Given the description of an element on the screen output the (x, y) to click on. 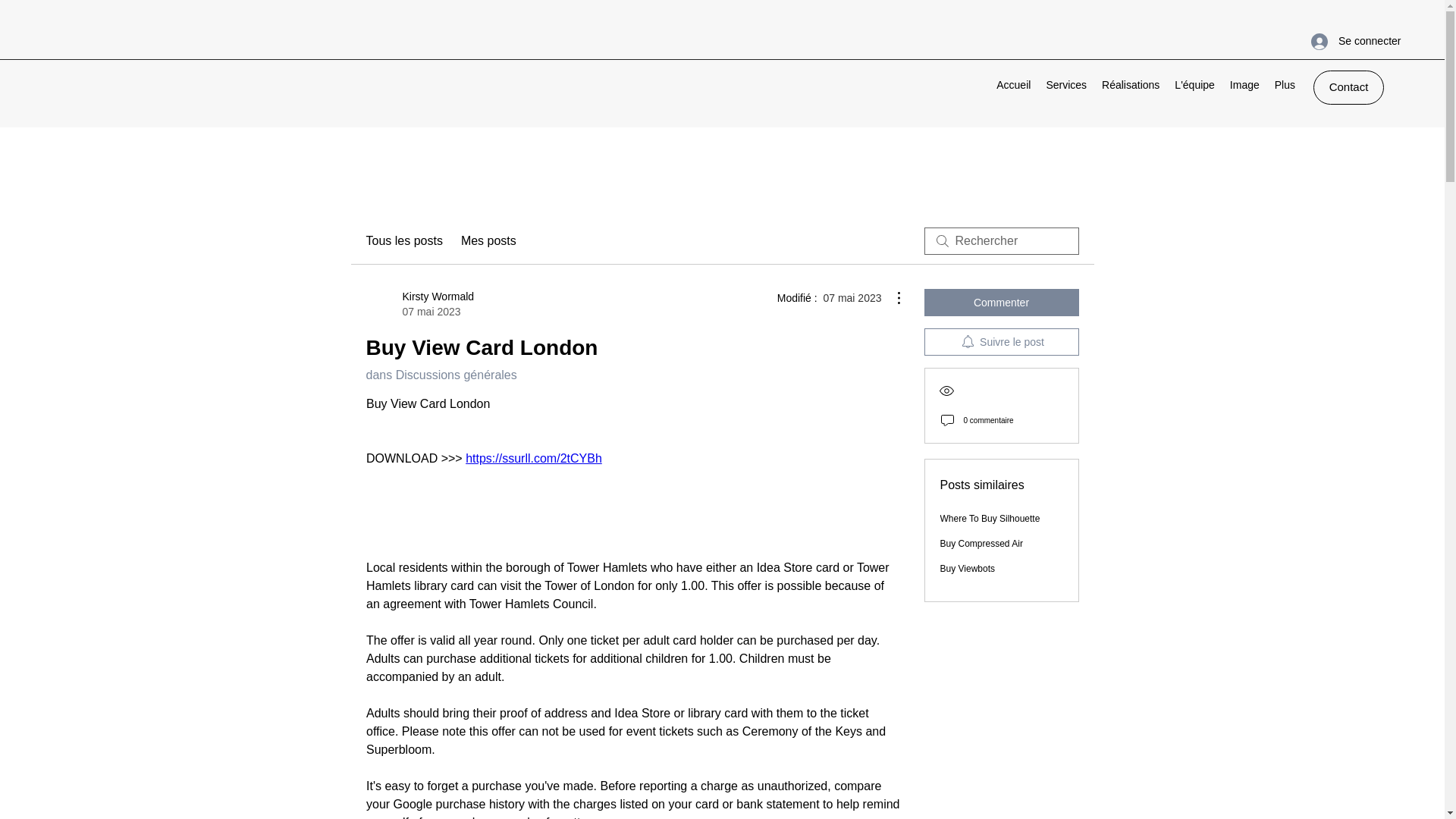
Buy Viewbots (967, 568)
Suivre le post (1000, 341)
Accueil (1013, 87)
Mes posts (488, 240)
Commenter (1000, 302)
Where To Buy Silhouette (990, 518)
Se connecter (1342, 41)
Services (1066, 87)
Tous les posts (403, 240)
Image (419, 304)
Contact (1244, 87)
Buy Compressed Air (1348, 87)
